Given the description of an element on the screen output the (x, y) to click on. 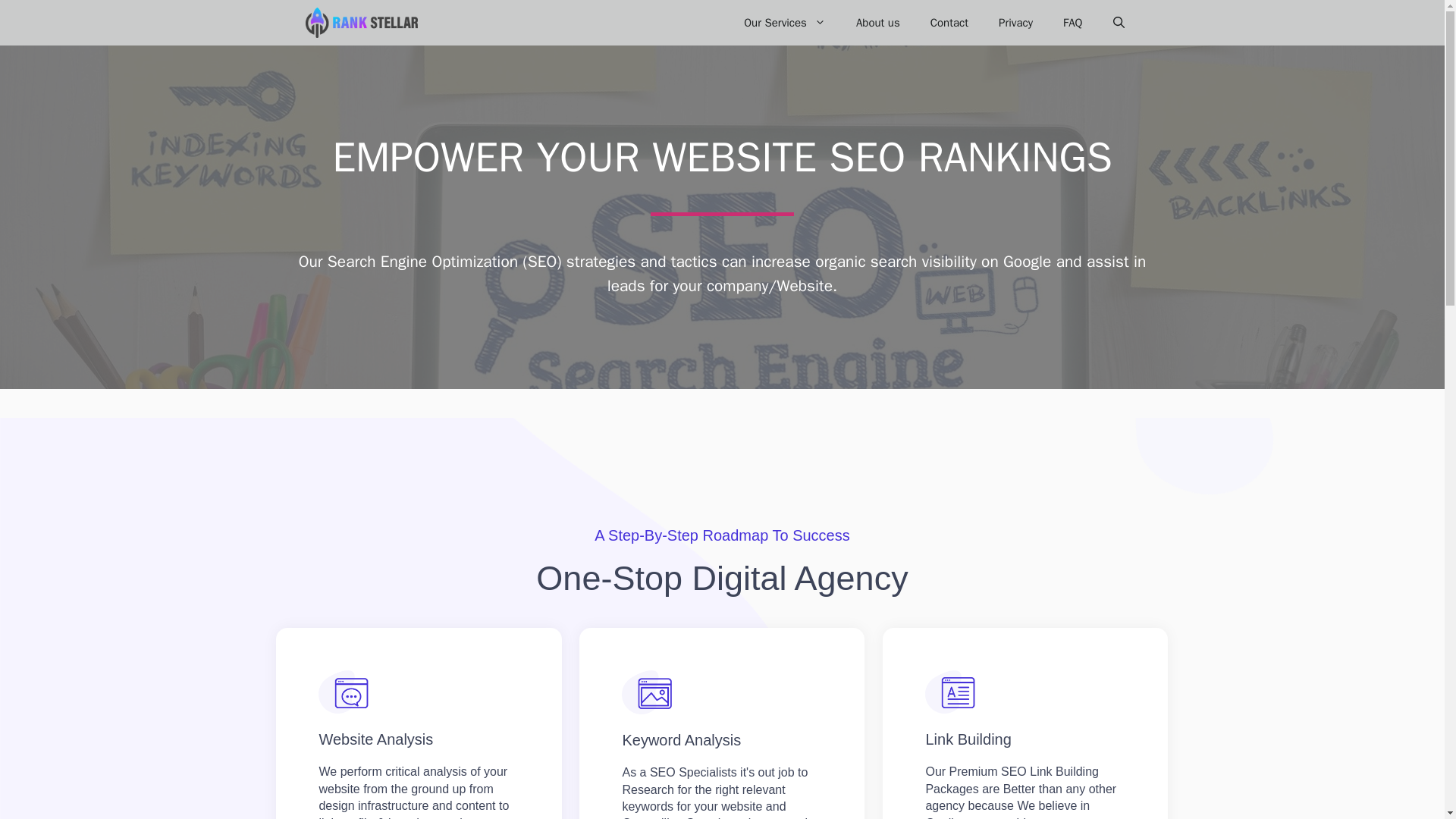
Privacy (1016, 22)
Contact (949, 22)
About us (878, 22)
Rank Stellar Infotech (360, 22)
Our Services (785, 22)
Rank Stellar Infotech (364, 22)
FAQ (1072, 22)
